Given the description of an element on the screen output the (x, y) to click on. 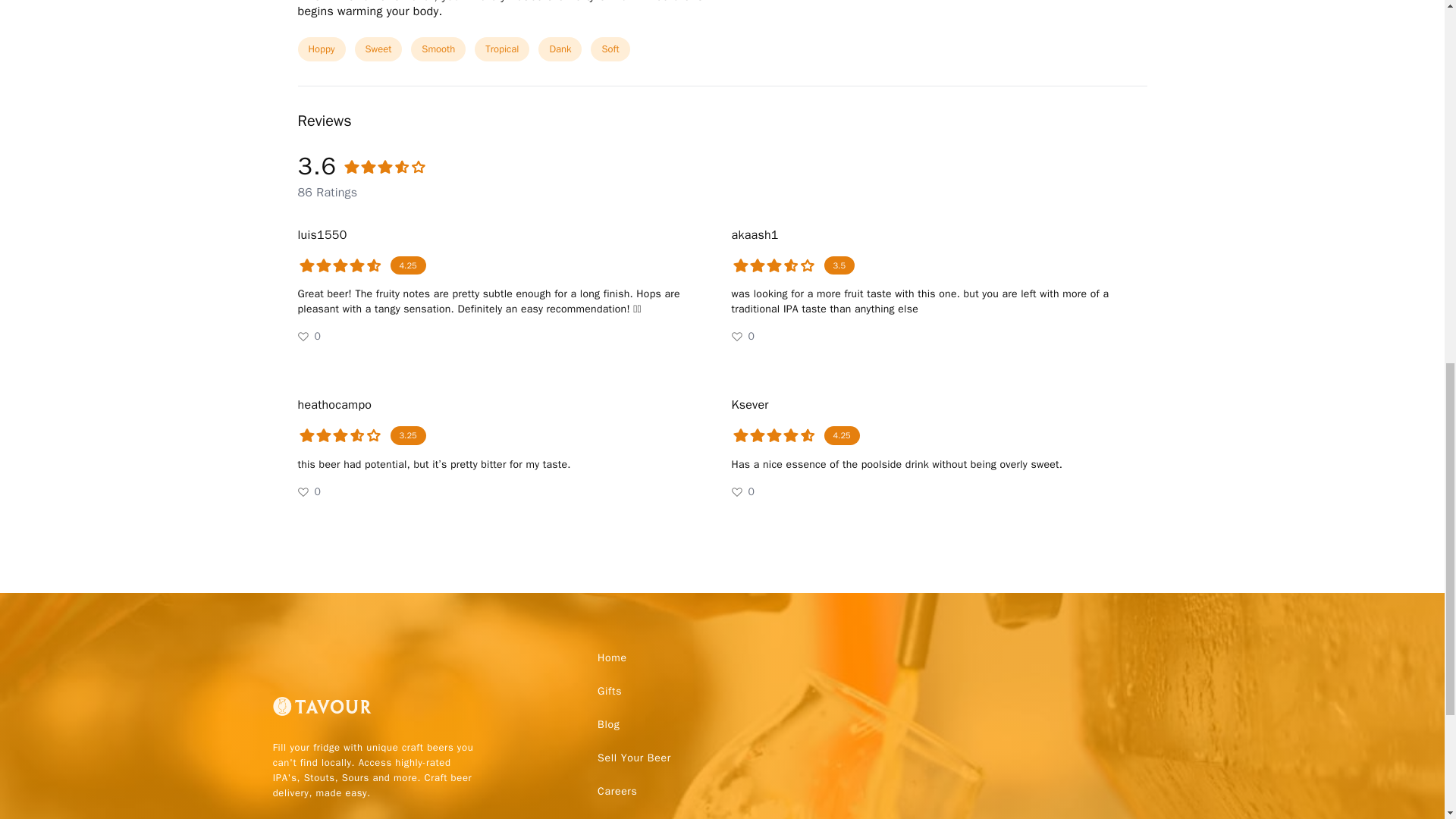
Careers (617, 791)
Help (608, 813)
Twitter (285, 816)
Facebook (307, 816)
Tavour (322, 711)
Home (612, 657)
Gifts (609, 691)
Sell Your Beer (633, 758)
blog (608, 725)
Instagram (328, 816)
